Given the description of an element on the screen output the (x, y) to click on. 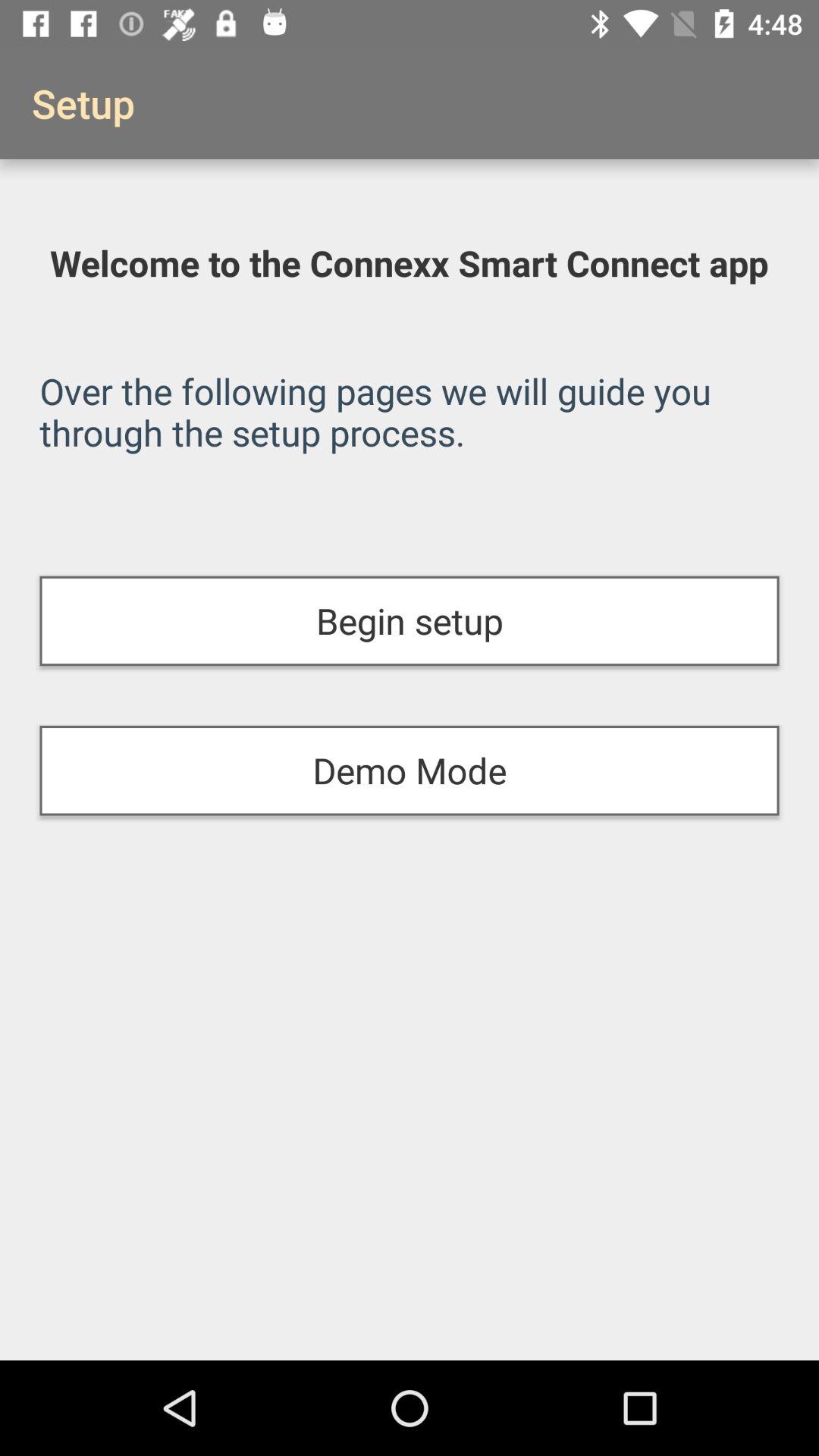
press the begin setup icon (409, 621)
